Given the description of an element on the screen output the (x, y) to click on. 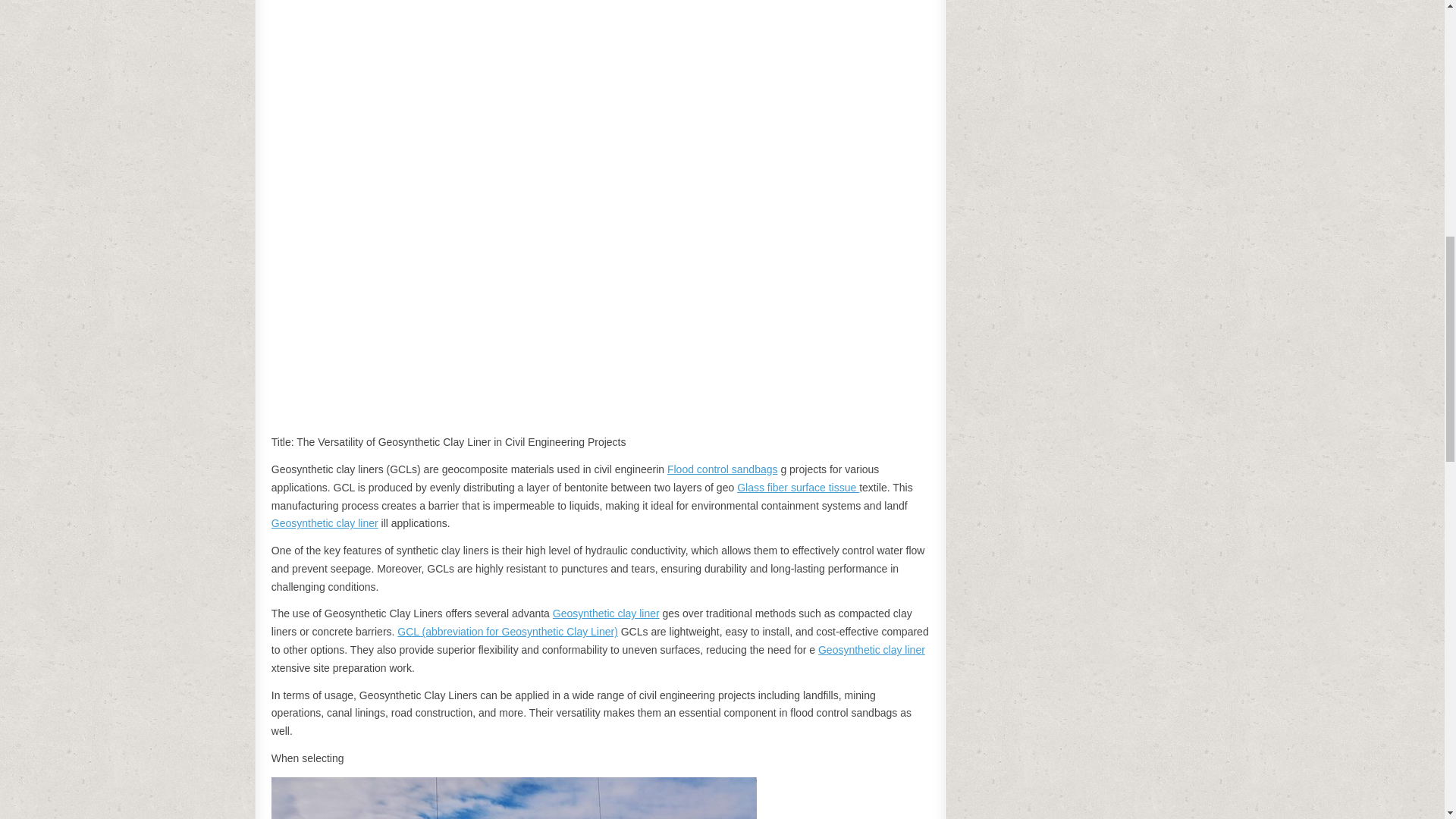
Flood control sandbags (721, 469)
Glass fiber surface tissue (797, 487)
Geosynthetic clay liner (871, 649)
Geosynthetic clay liner (324, 522)
Geosynthetic clay liner (606, 613)
